Given the description of an element on the screen output the (x, y) to click on. 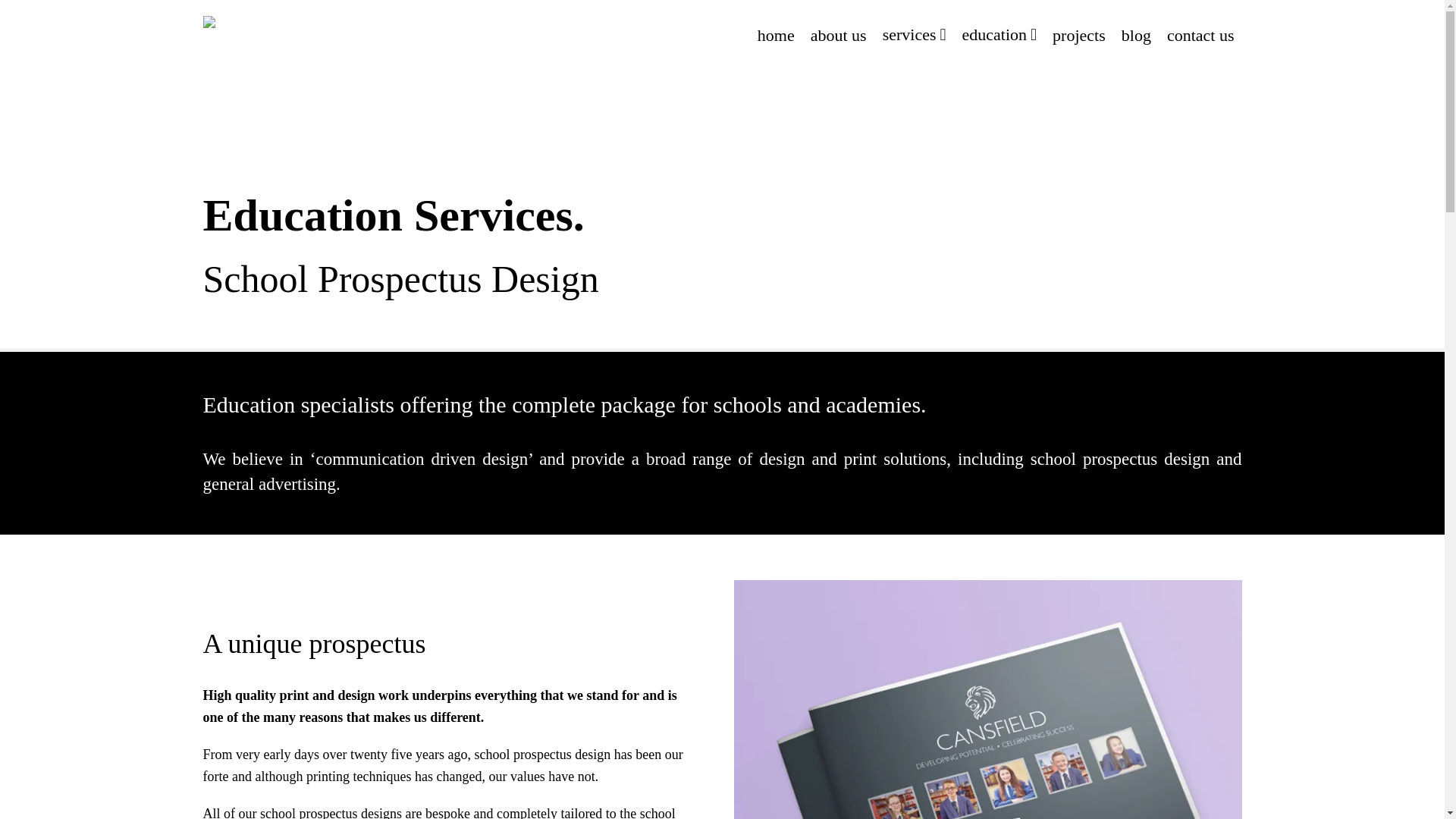
contact us (1199, 34)
The Creative Agency - Forward thinking design and marketing (298, 29)
home (775, 34)
education (1000, 34)
about us (839, 34)
services (914, 34)
projects (1079, 34)
blog (1135, 34)
